Given the description of an element on the screen output the (x, y) to click on. 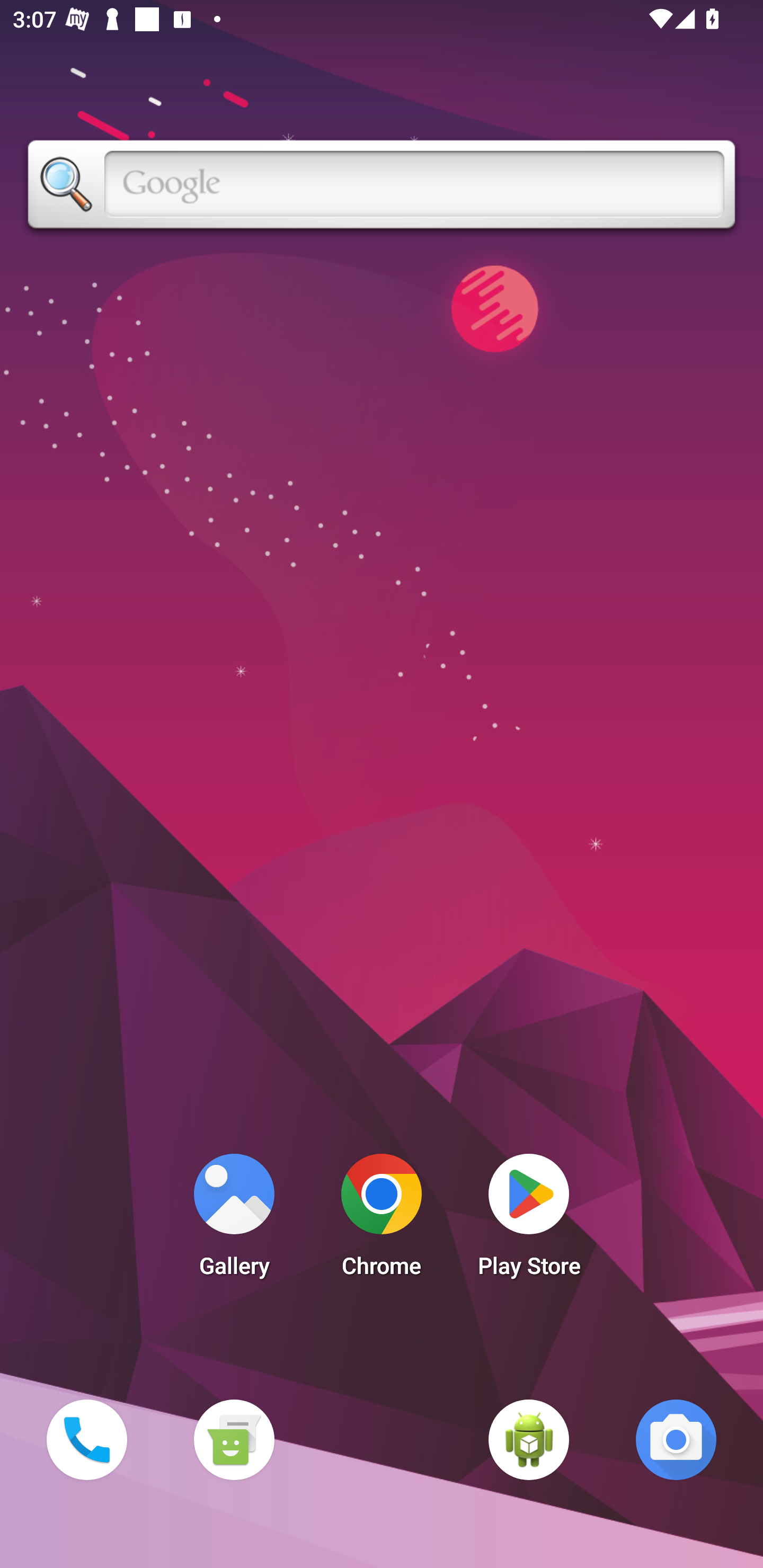
Gallery (233, 1220)
Chrome (381, 1220)
Play Store (528, 1220)
Phone (86, 1439)
Messaging (233, 1439)
WebView Browser Tester (528, 1439)
Camera (676, 1439)
